Given the description of an element on the screen output the (x, y) to click on. 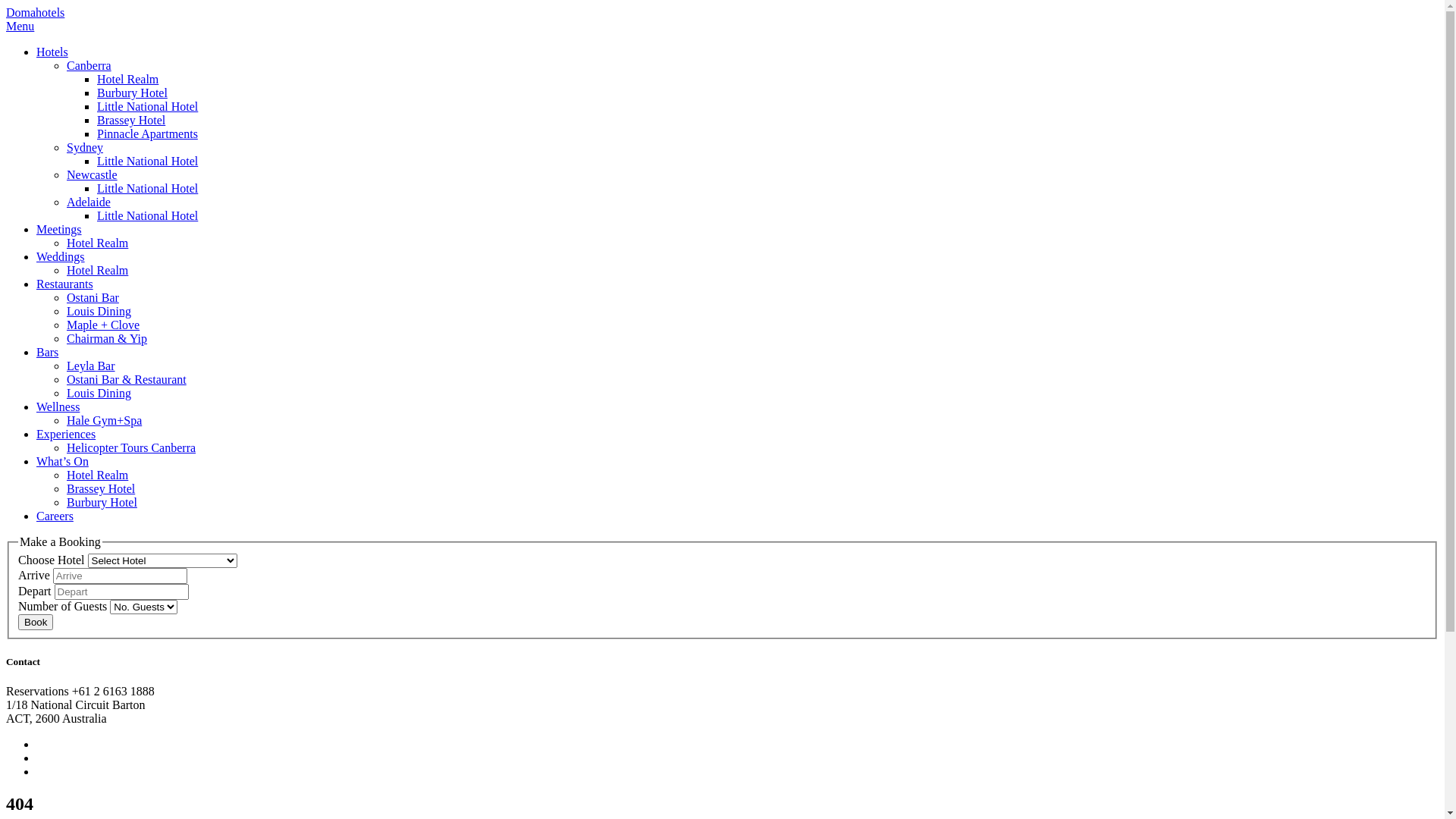
Helicopter Tours Canberra Element type: text (130, 447)
Hotel Realm Element type: text (97, 242)
Ostani Bar Element type: text (92, 297)
Burbury Hotel Element type: text (132, 92)
Brassey Hotel Element type: text (100, 488)
Meetings Element type: text (58, 228)
Little National Hotel Element type: text (147, 160)
Little National Hotel Element type: text (147, 188)
Louis Dining Element type: text (98, 310)
Little National Hotel Element type: text (147, 215)
Hotel Realm Element type: text (97, 474)
Hotel Realm Element type: text (127, 78)
Domahotels Element type: text (35, 12)
Careers Element type: text (54, 515)
Hale Gym+Spa Element type: text (103, 420)
Weddings Element type: text (60, 256)
Adelaide Element type: text (88, 201)
Hotel Realm Element type: text (97, 269)
Brassey Hotel Element type: text (131, 119)
Newcastle Element type: text (91, 174)
Wellness Element type: text (57, 406)
Louis Dining Element type: text (98, 392)
Canberra Element type: text (88, 65)
Book Element type: text (35, 622)
Pinnacle Apartments Element type: text (147, 133)
Experiences Element type: text (65, 433)
Ostani Bar & Restaurant Element type: text (126, 379)
Burbury Hotel Element type: text (101, 501)
Hotels Element type: text (52, 51)
Chairman & Yip Element type: text (106, 338)
Little National Hotel Element type: text (147, 106)
Restaurants Element type: text (64, 283)
Maple + Clove Element type: text (102, 324)
Menu Element type: text (20, 25)
Sydney Element type: text (84, 147)
Bars Element type: text (47, 351)
Leyla Bar Element type: text (90, 365)
